Given the description of an element on the screen output the (x, y) to click on. 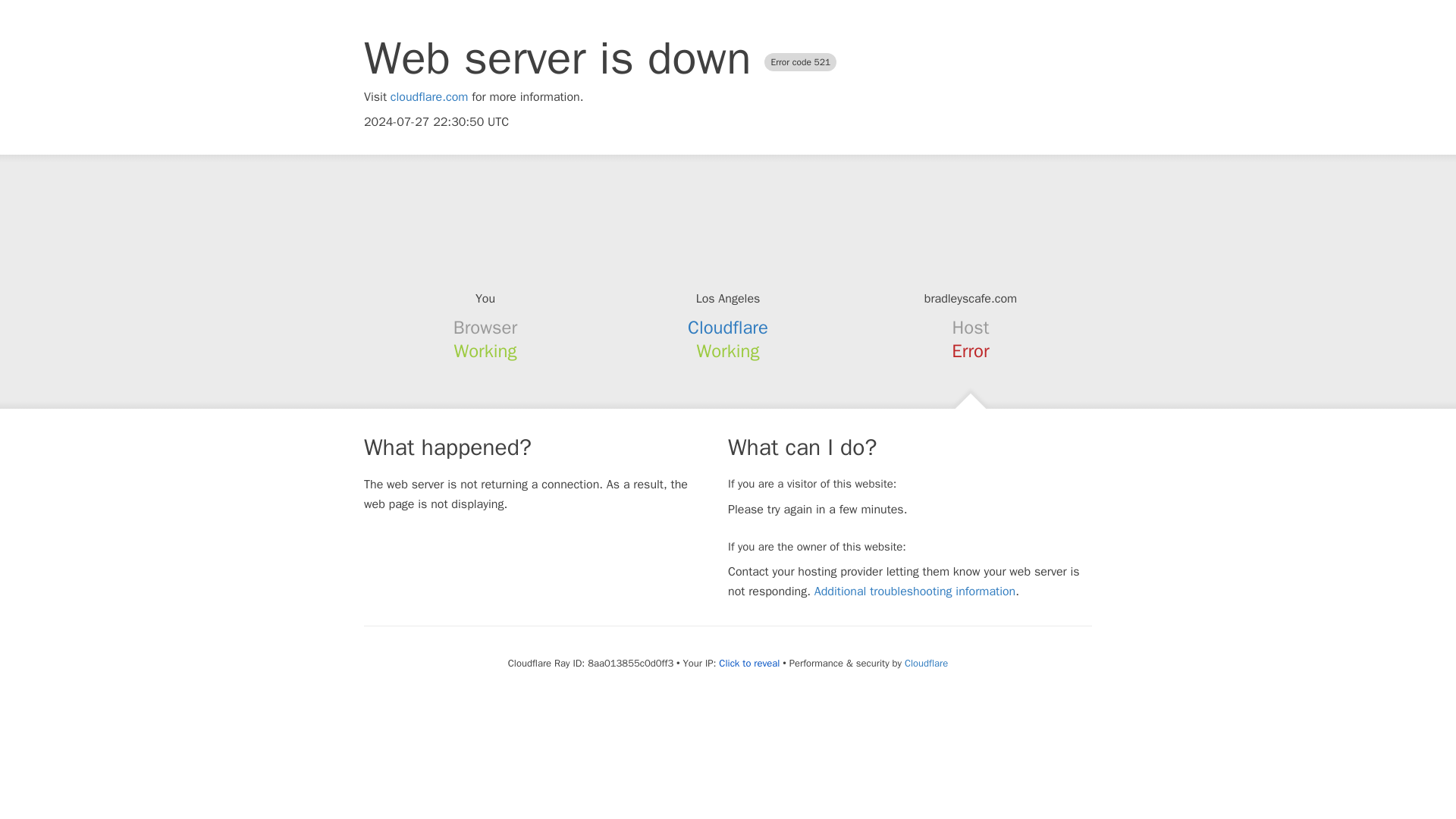
cloudflare.com (429, 96)
Cloudflare (925, 662)
Additional troubleshooting information (913, 590)
Cloudflare (727, 327)
Click to reveal (748, 663)
